Given the description of an element on the screen output the (x, y) to click on. 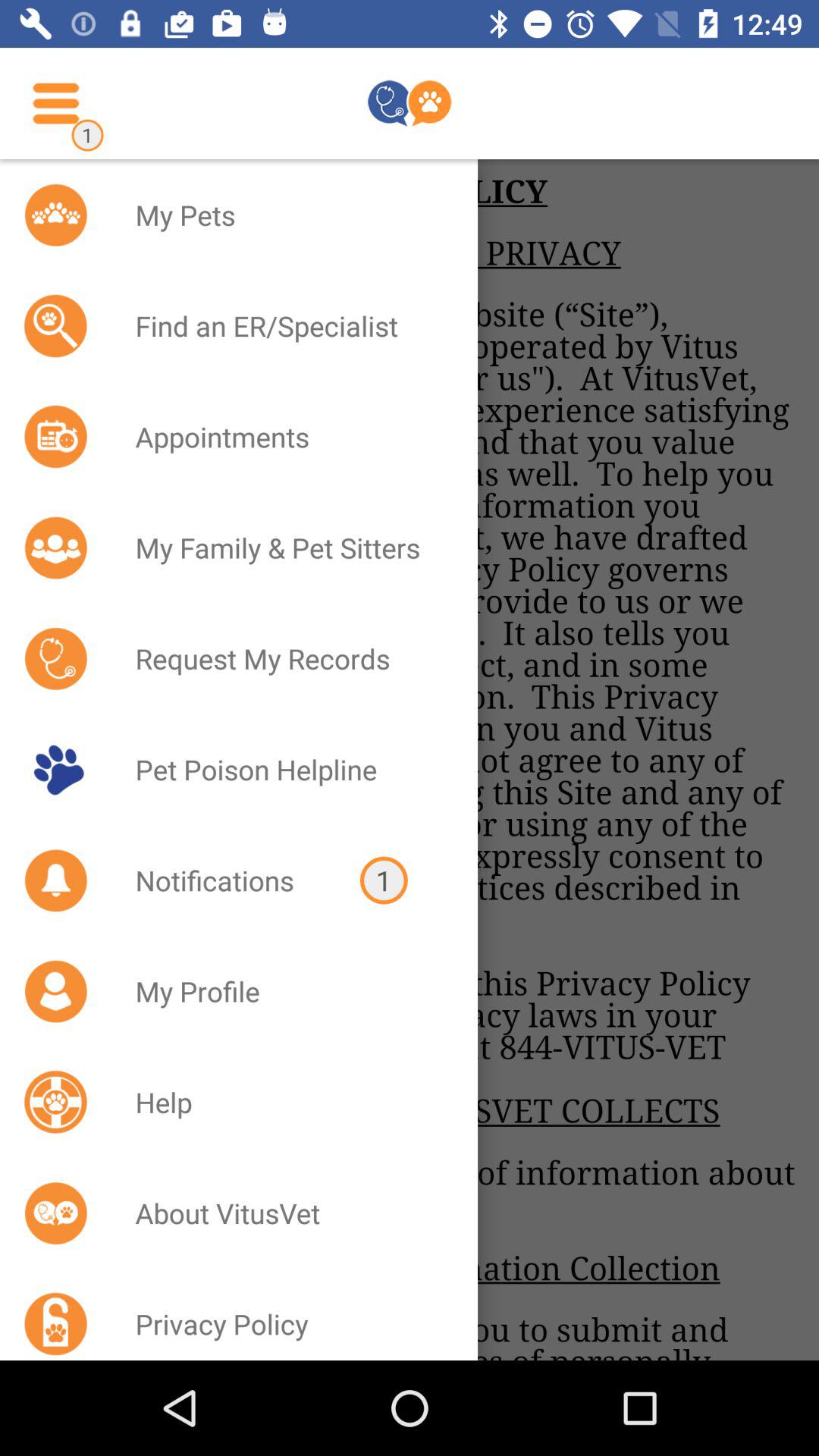
swipe until the appointments icon (286, 436)
